Given the description of an element on the screen output the (x, y) to click on. 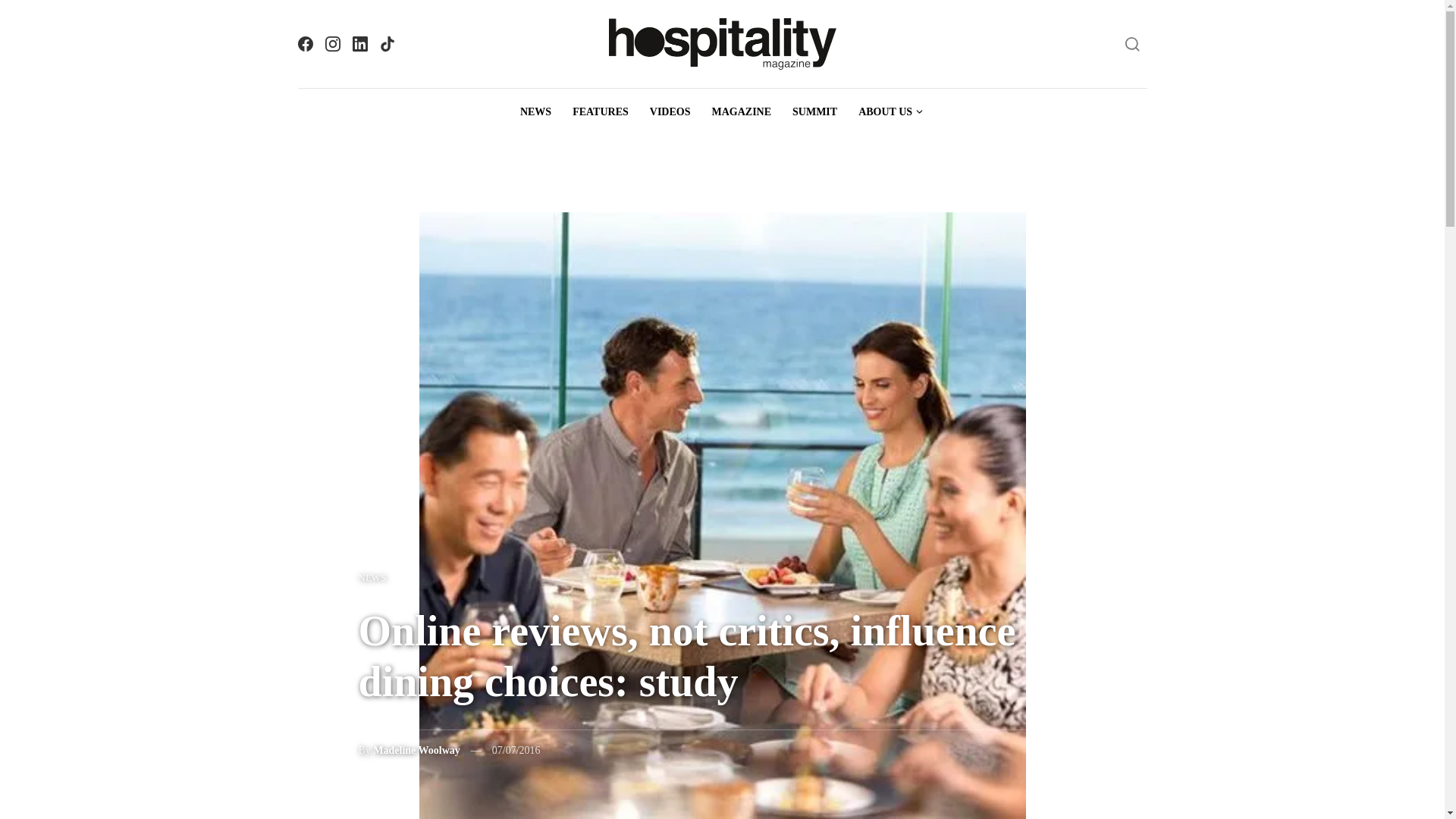
View all posts in News (372, 577)
ABOUT US (890, 111)
NEWS (535, 111)
MAGAZINE (740, 111)
NEWS (372, 577)
VIDEOS (670, 111)
FEATURES (600, 111)
SUMMIT (814, 111)
Madeline Woolway (416, 749)
